Given the description of an element on the screen output the (x, y) to click on. 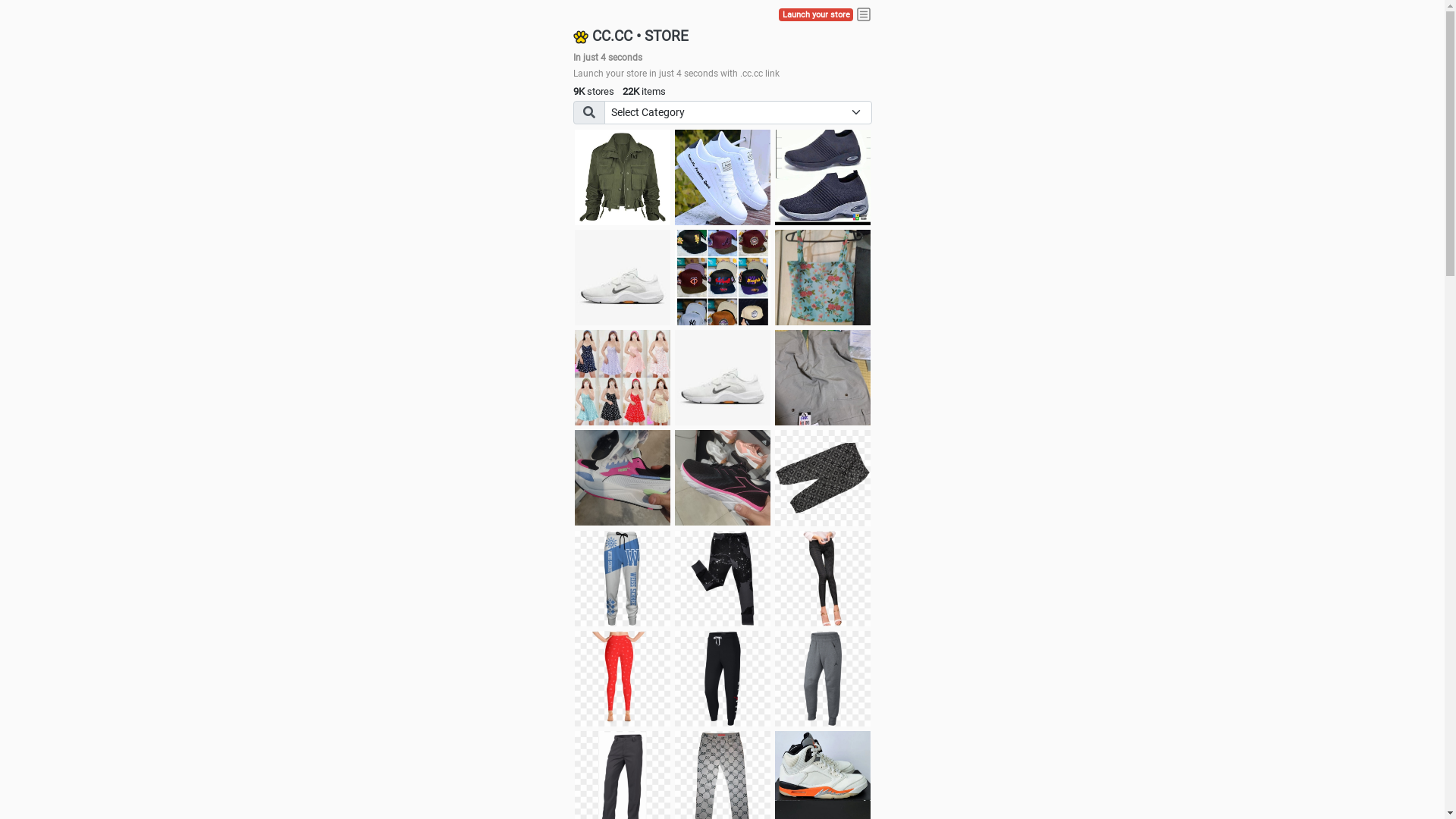
white shoes Element type: hover (722, 177)
Short pant Element type: hover (822, 477)
Shoes for boys Element type: hover (622, 277)
Zapatillas pumas Element type: hover (622, 477)
Dress/square nect top Element type: hover (622, 377)
Pant Element type: hover (722, 578)
jacket Element type: hover (622, 177)
Ukay cloth Element type: hover (822, 277)
Shoes Element type: hover (722, 377)
Launch your store Element type: text (815, 14)
Things we need Element type: hover (722, 277)
Pant Element type: hover (822, 678)
shoes for boys Element type: hover (822, 177)
Pant Element type: hover (822, 578)
Zapatillas Element type: hover (722, 477)
Pant Element type: hover (722, 678)
Pant Element type: hover (622, 678)
Pant Element type: hover (622, 578)
